Given the description of an element on the screen output the (x, y) to click on. 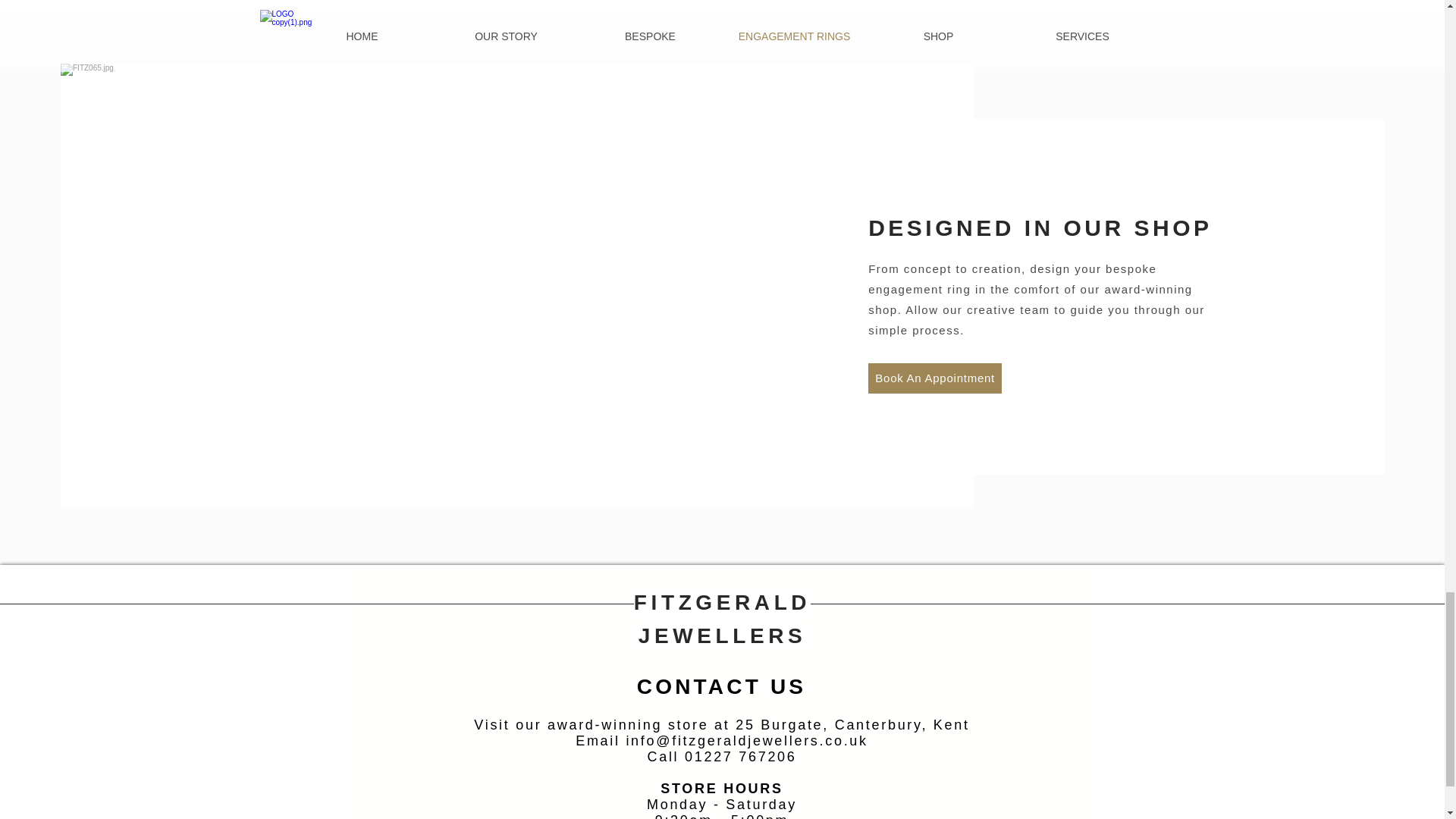
Book An Appointment (934, 378)
Read Our Story (818, 233)
